Given the description of an element on the screen output the (x, y) to click on. 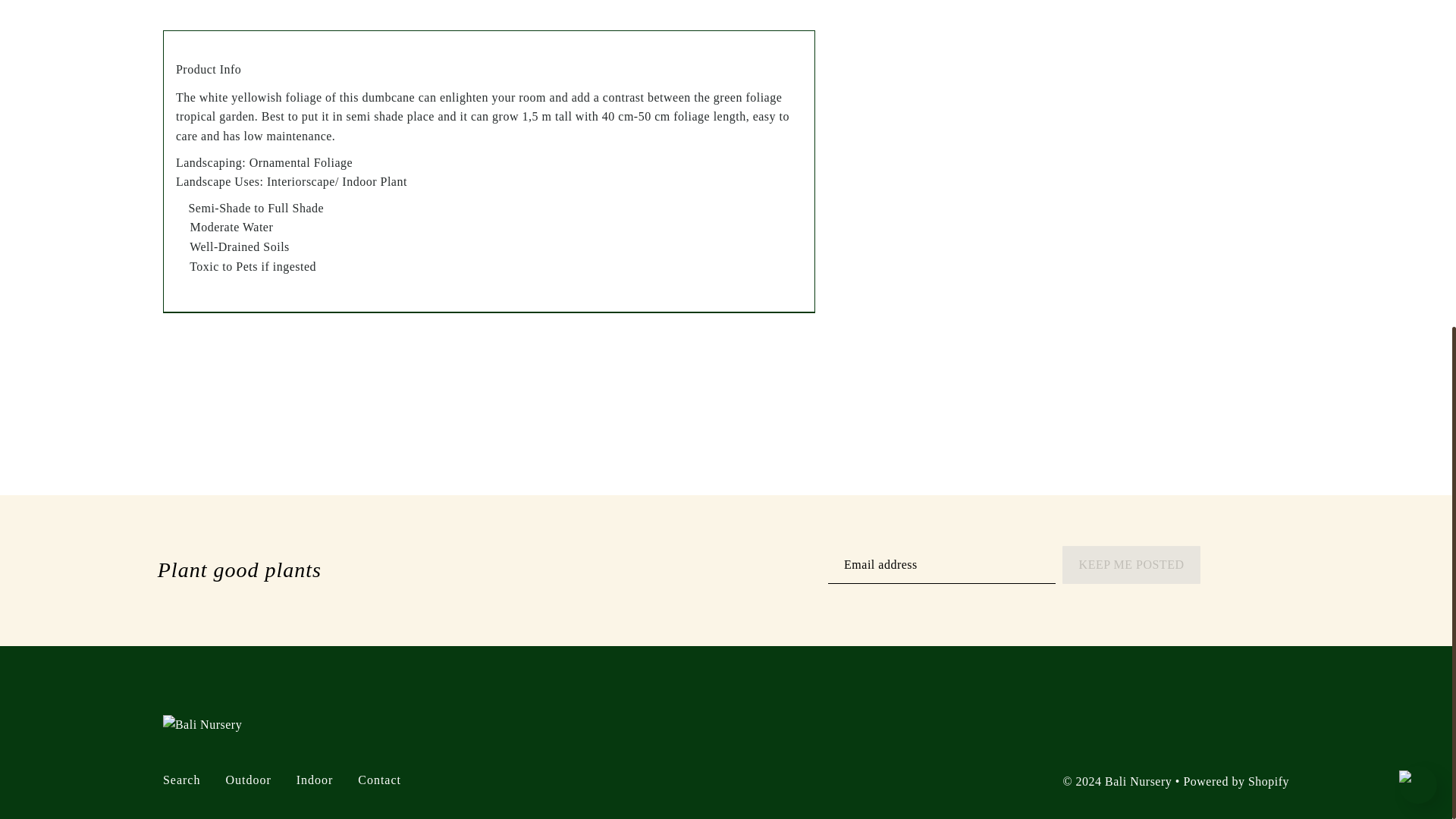
Contact (379, 779)
KEEP ME POSTED (1130, 565)
Indoor (315, 779)
Search (181, 779)
Outdoor (247, 779)
